Given the description of an element on the screen output the (x, y) to click on. 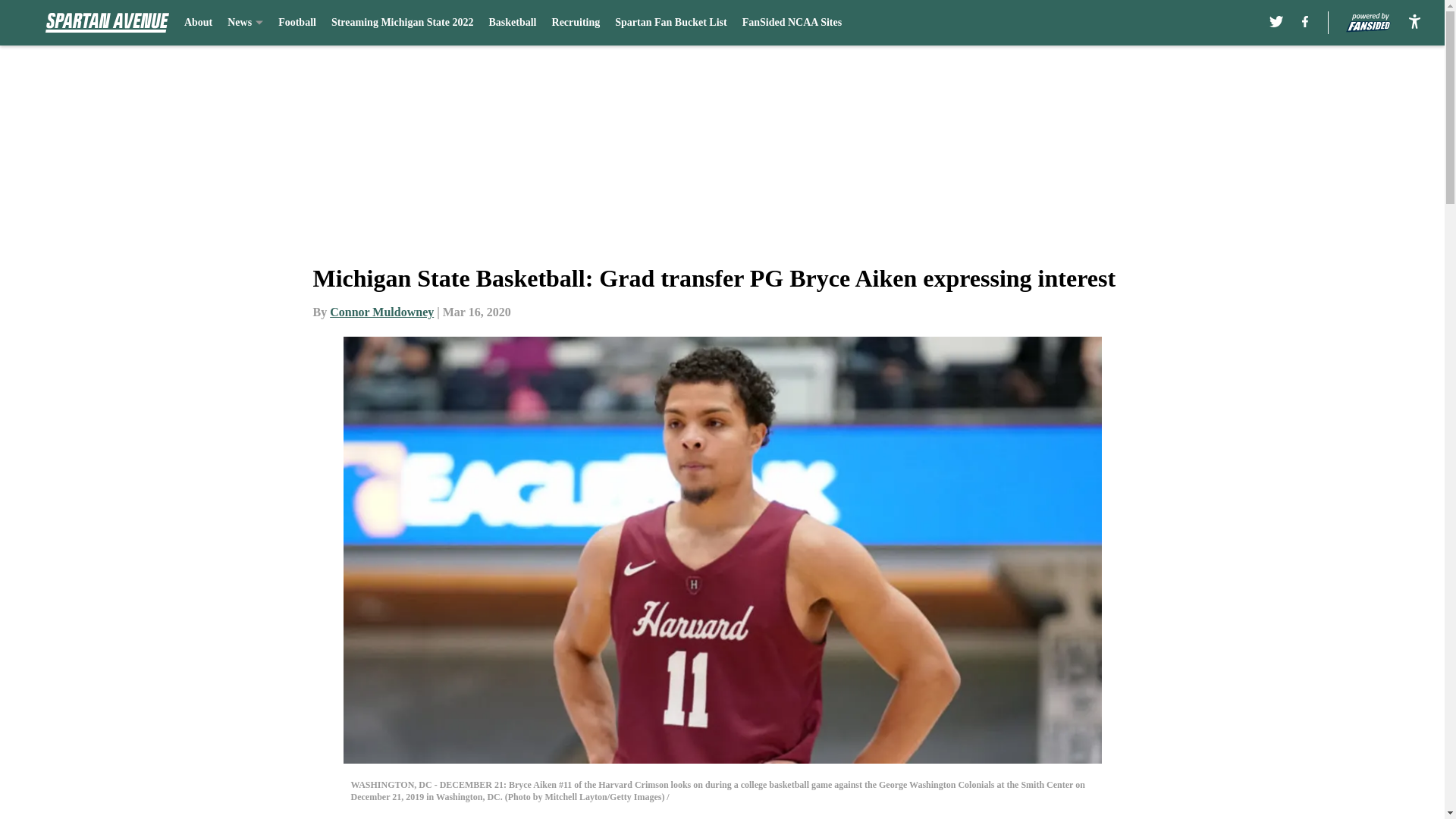
FanSided NCAA Sites (791, 22)
Recruiting (575, 22)
Streaming Michigan State 2022 (402, 22)
Basketball (511, 22)
Spartan Fan Bucket List (670, 22)
Connor Muldowney (381, 311)
Football (296, 22)
About (198, 22)
